Given the description of an element on the screen output the (x, y) to click on. 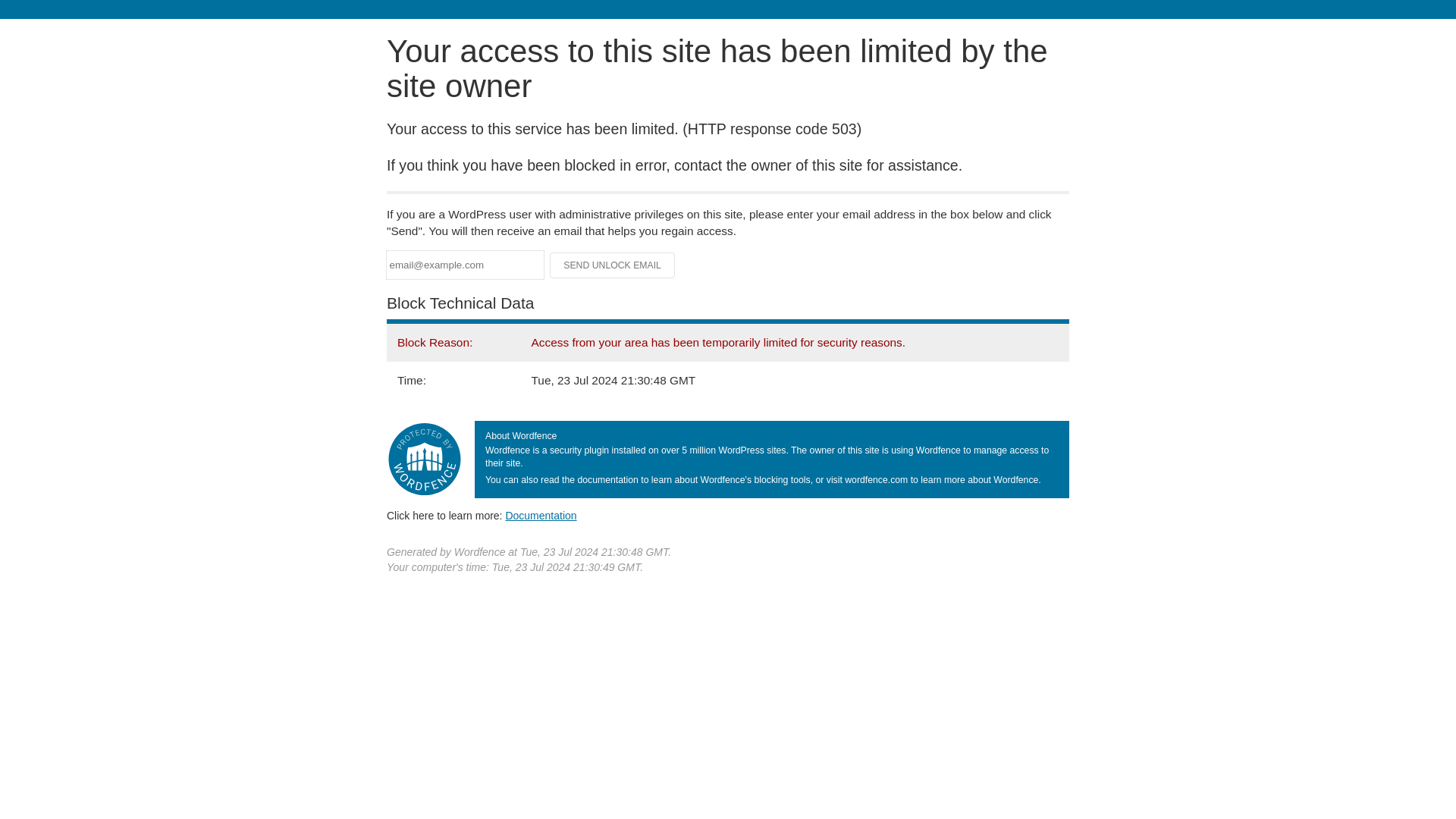
Documentation (540, 515)
Send Unlock Email (612, 265)
Send Unlock Email (612, 265)
